Given the description of an element on the screen output the (x, y) to click on. 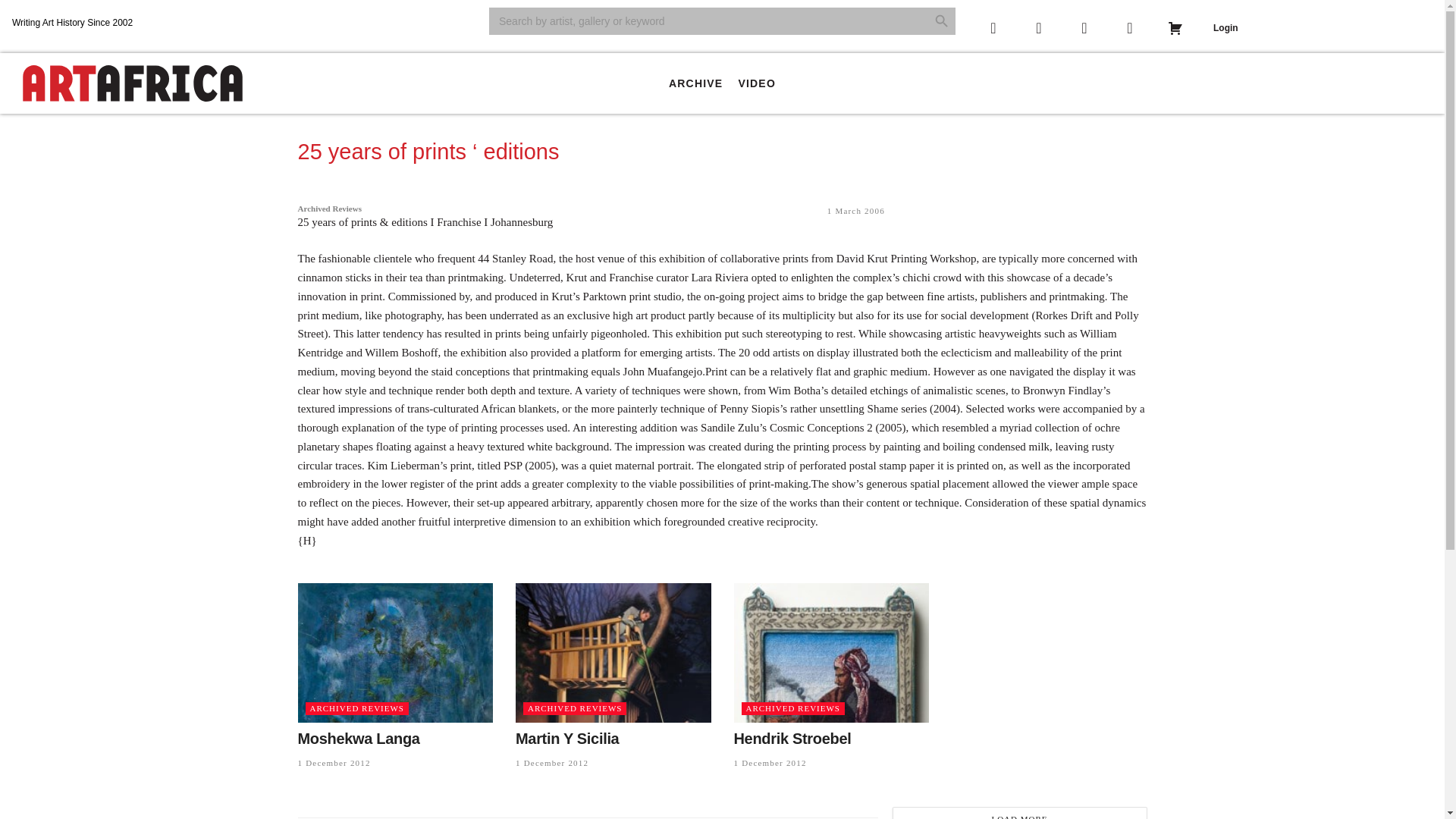
LOAD MORE (1019, 812)
VIDEO (756, 83)
1 December 2012 (333, 762)
1 December 2012 (551, 762)
1 December 2012 (769, 762)
1 March 2006 (856, 210)
Martin Y Sicilia (566, 738)
Archived Reviews (329, 207)
ARCHIVED REVIEWS (574, 707)
Login (1225, 27)
